Given the description of an element on the screen output the (x, y) to click on. 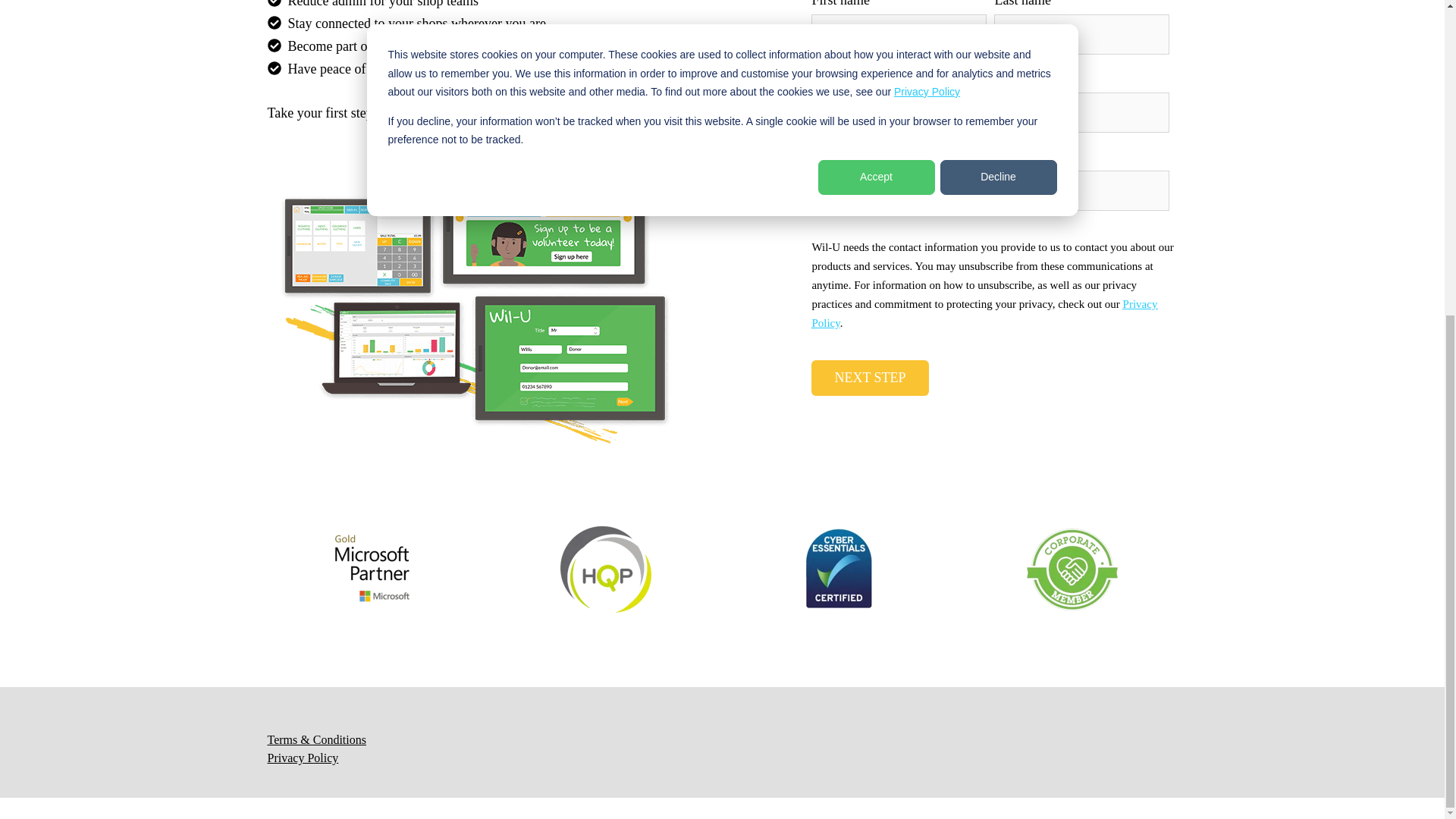
corporate member (1071, 569)
cyber essentials certified (838, 569)
Privacy Policy (301, 757)
Next Step (869, 377)
hqp (605, 569)
microsoft gold partner (372, 569)
Privacy Policy (983, 313)
Next Step (869, 377)
